Given the description of an element on the screen output the (x, y) to click on. 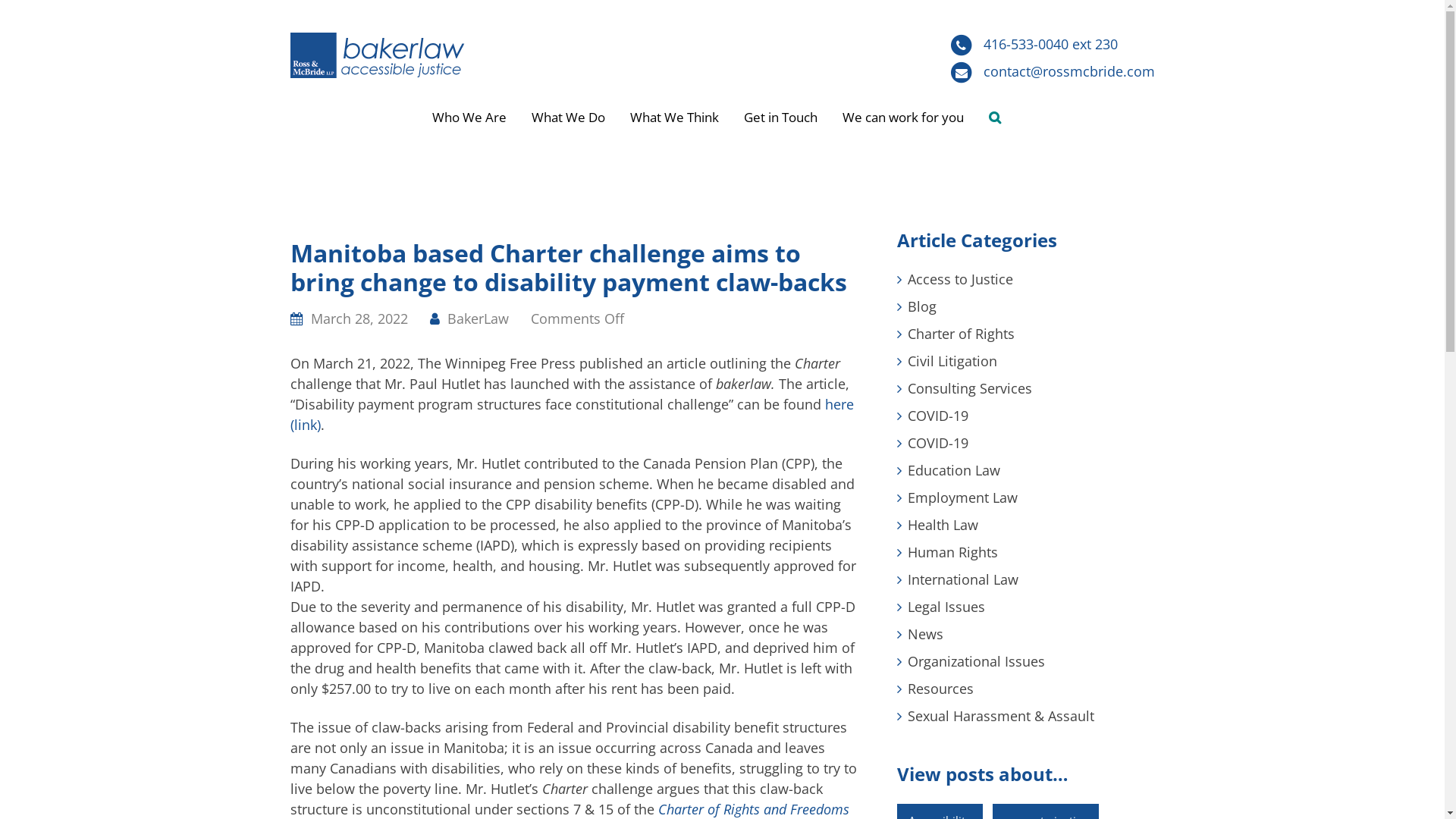
Privacy Policy Element type: text (801, 798)
Who We Are Element type: text (469, 118)
Consulting Services Element type: text (968, 388)
Terms and Conditions Element type: text (915, 798)
Sexual Harassment & Assault Element type: text (999, 715)
COVID-19 Element type: text (936, 415)
Civil Litigation Element type: text (951, 360)
Legal Issues Element type: text (945, 606)
International Law Element type: text (961, 579)
Employment Law Element type: text (961, 497)
Charter of Rights Element type: text (959, 333)
Human Rights Element type: text (951, 551)
News Element type: text (924, 633)
here (link) Element type: text (571, 414)
Health Law Element type: text (941, 524)
Resources Element type: text (939, 688)
Education Law Element type: text (952, 470)
Access to Justice Element type: text (959, 278)
Submit Message Element type: text (869, 656)
Organizational Issues Element type: text (975, 661)
COVID-19 Element type: text (936, 442)
What We Do Element type: text (567, 118)
Get in Touch Element type: text (780, 118)
Blog Element type: text (920, 306)
What We Think Element type: text (674, 118)
We can work for you Element type: text (902, 118)
